Given the description of an element on the screen output the (x, y) to click on. 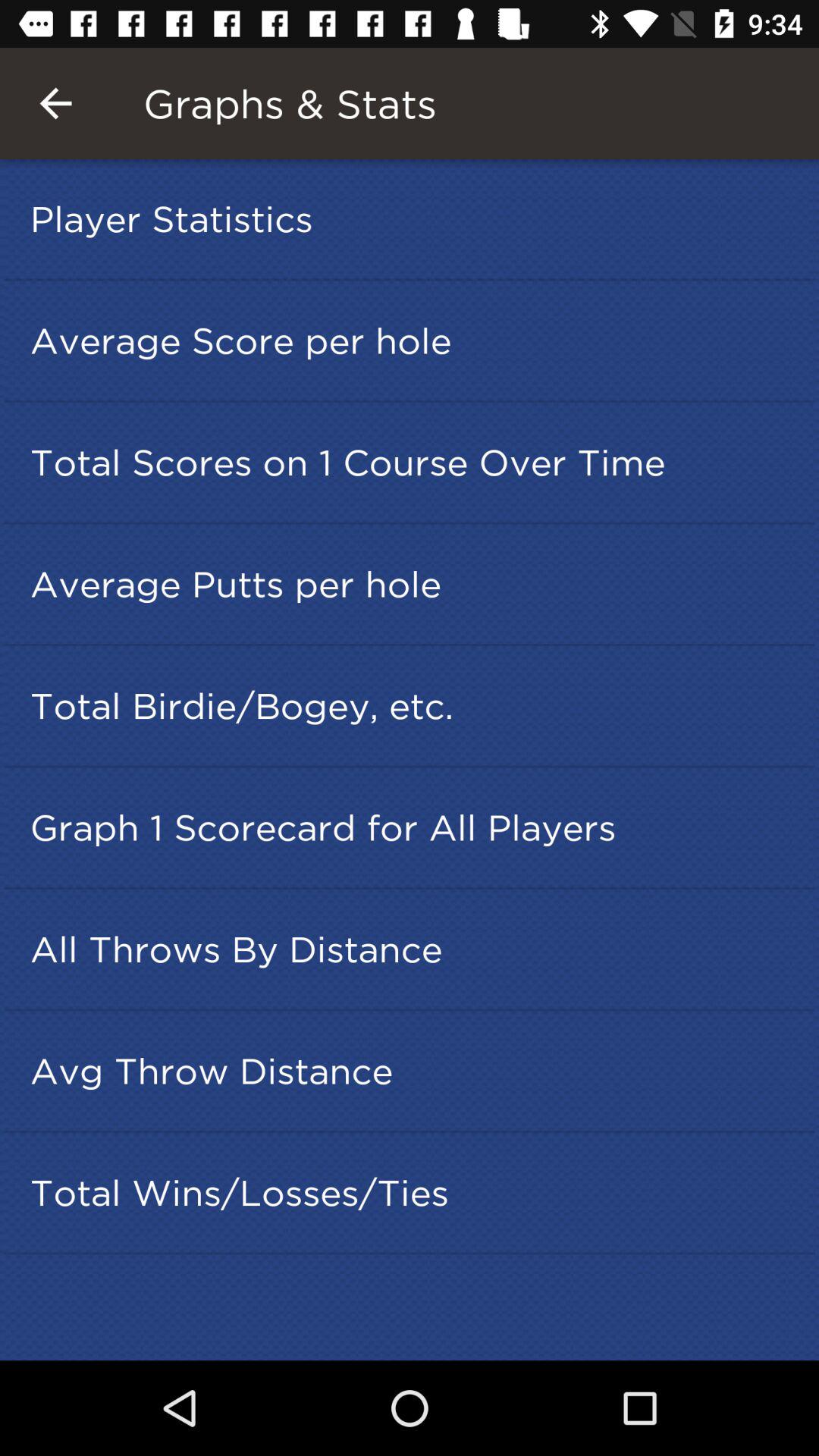
select item below the average score per icon (414, 462)
